Given the description of an element on the screen output the (x, y) to click on. 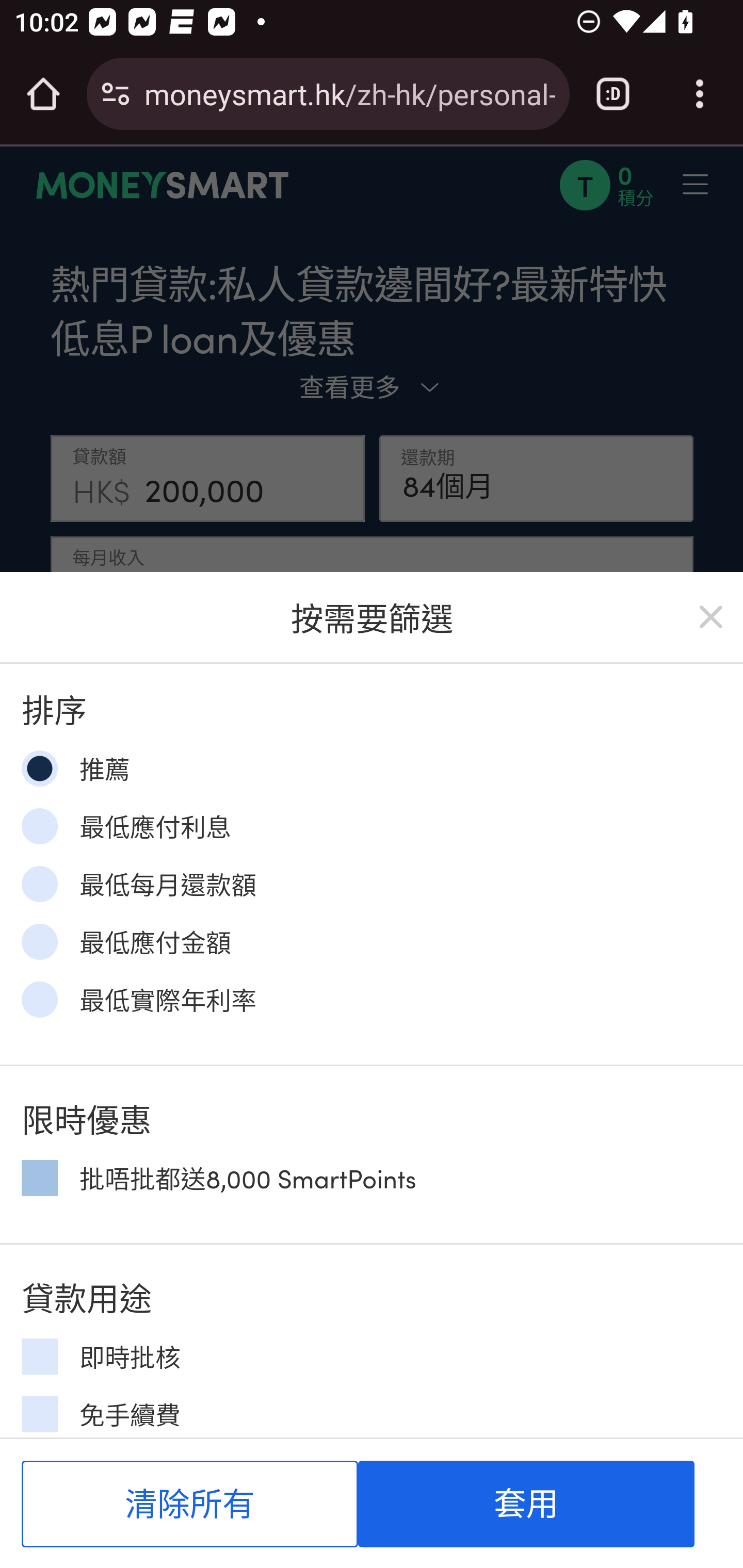
Open the home page (43, 93)
Connection is secure (115, 93)
Switch or close tabs (612, 93)
Customize and control Google Chrome (699, 93)
推薦 (39, 768)
最低應付利息 (39, 825)
最低每月還款額 (39, 883)
最低應付金額 (39, 940)
最低實際年利率 (39, 998)
批唔批都送8,000 SmartPoints (39, 1177)
即時批核 (39, 1356)
免手續費 (39, 1414)
清除所有 (189, 1504)
套用 (525, 1504)
